Given the description of an element on the screen output the (x, y) to click on. 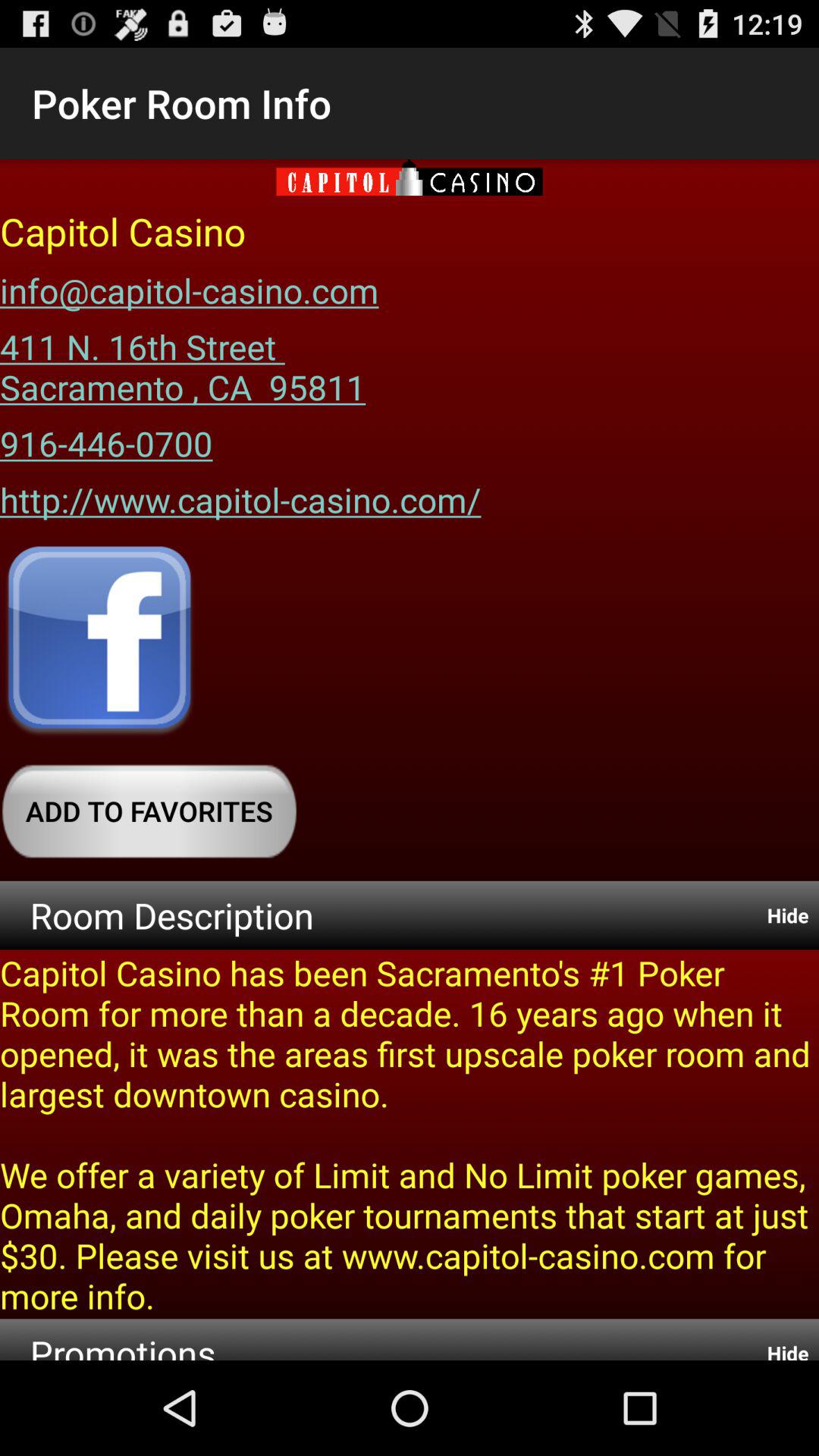
select add to favorites item (149, 811)
